Given the description of an element on the screen output the (x, y) to click on. 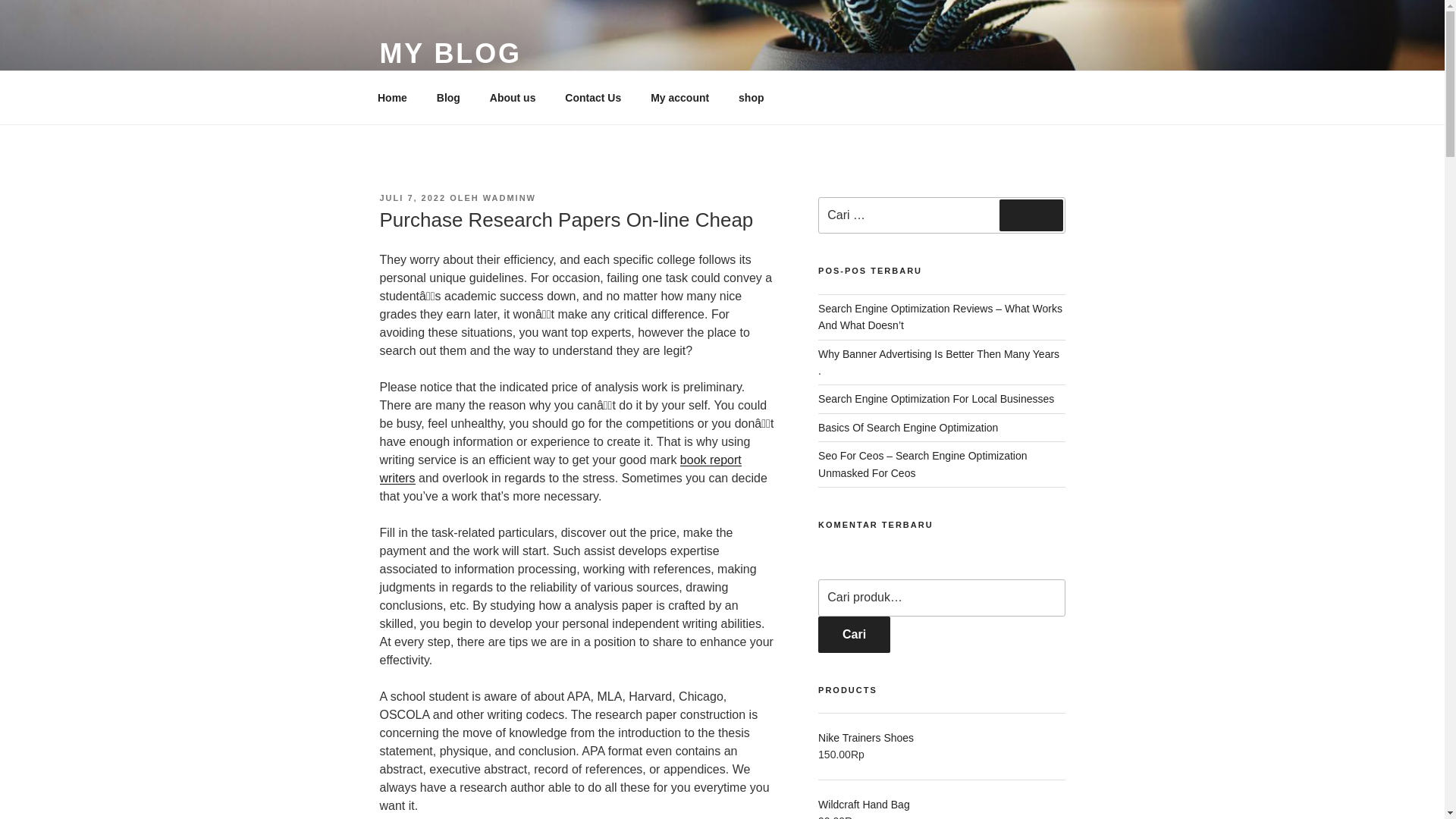
Why Banner Advertising Is Better Then Many Years . (938, 362)
WADMINW (509, 197)
About us (512, 97)
shop (751, 97)
Blog (448, 97)
Nike Trainers Shoes (941, 737)
book report writers (559, 468)
Wildcraft Hand Bag (941, 804)
Cari (853, 634)
Cari (1030, 214)
Home (392, 97)
JULI 7, 2022 (411, 197)
MY BLOG (449, 52)
Search Engine Optimization For Local Businesses (936, 398)
Basics Of Search Engine Optimization (907, 427)
